Given the description of an element on the screen output the (x, y) to click on. 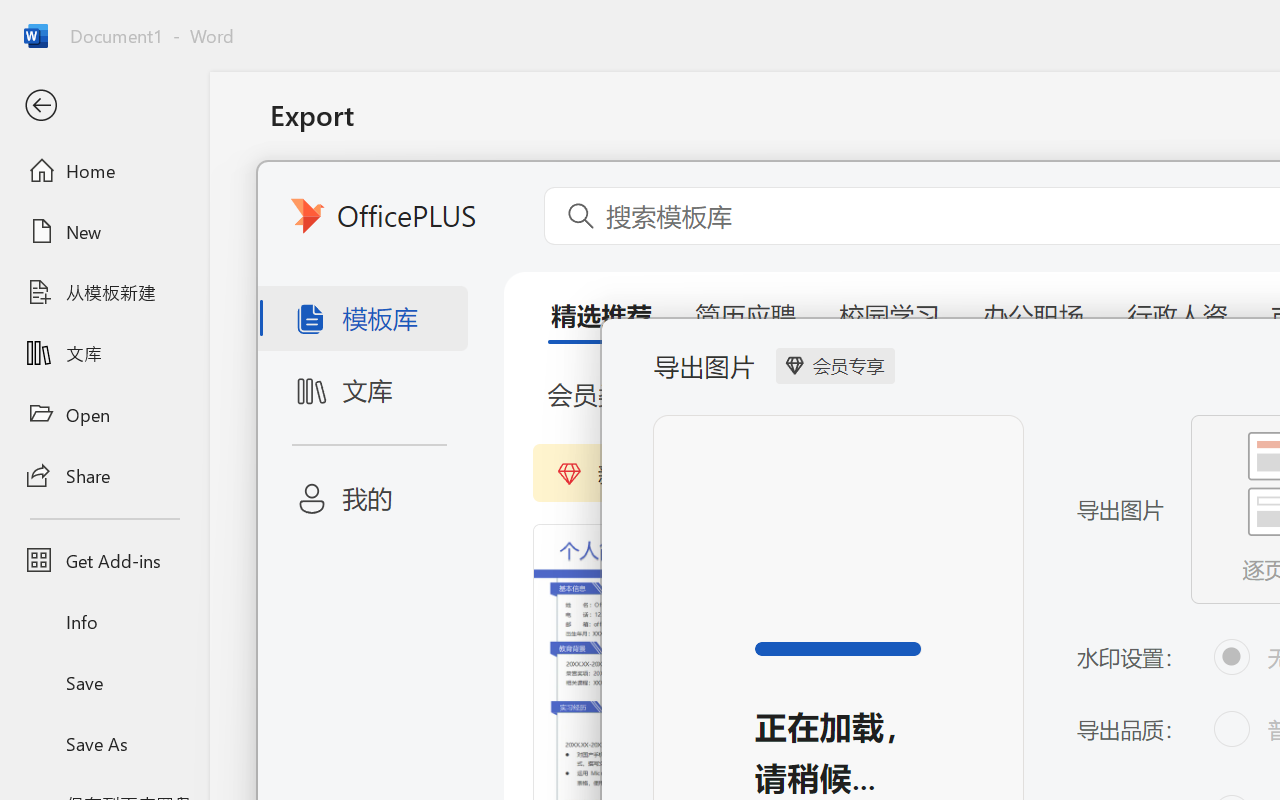
Get Add-ins (104, 560)
New (104, 231)
Create PDF/XPS Document (507, 205)
